Given the description of an element on the screen output the (x, y) to click on. 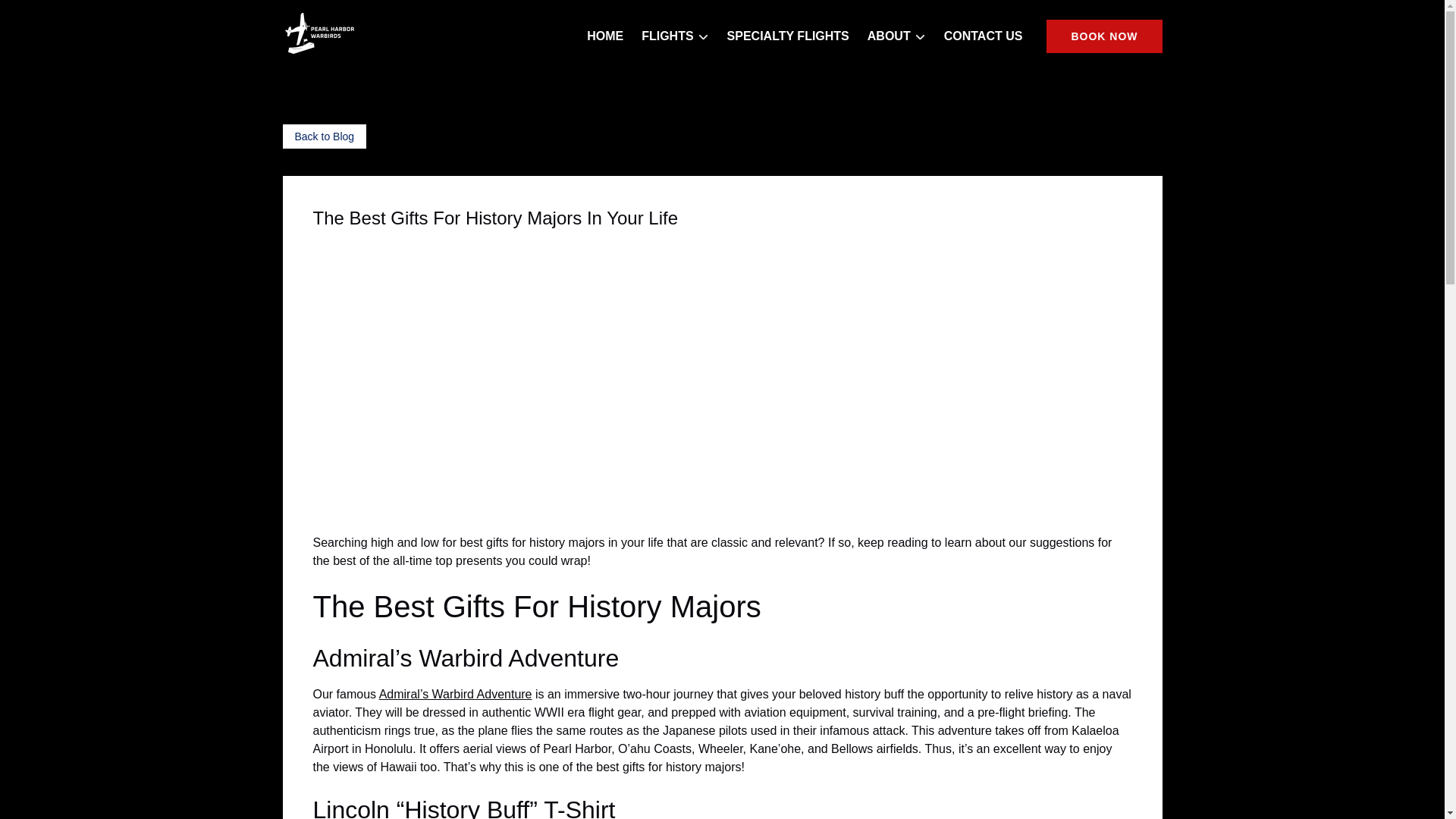
CONTACT US (983, 35)
Skip to primary navigation (77, 16)
Open About Menu (900, 32)
ABOUT (896, 35)
SPECIALTY FLIGHTS (788, 35)
return to Blog (324, 136)
Skip to content (47, 16)
Skip to footer (42, 16)
HOME (604, 35)
BOOK NOW (1103, 36)
